Given the description of an element on the screen output the (x, y) to click on. 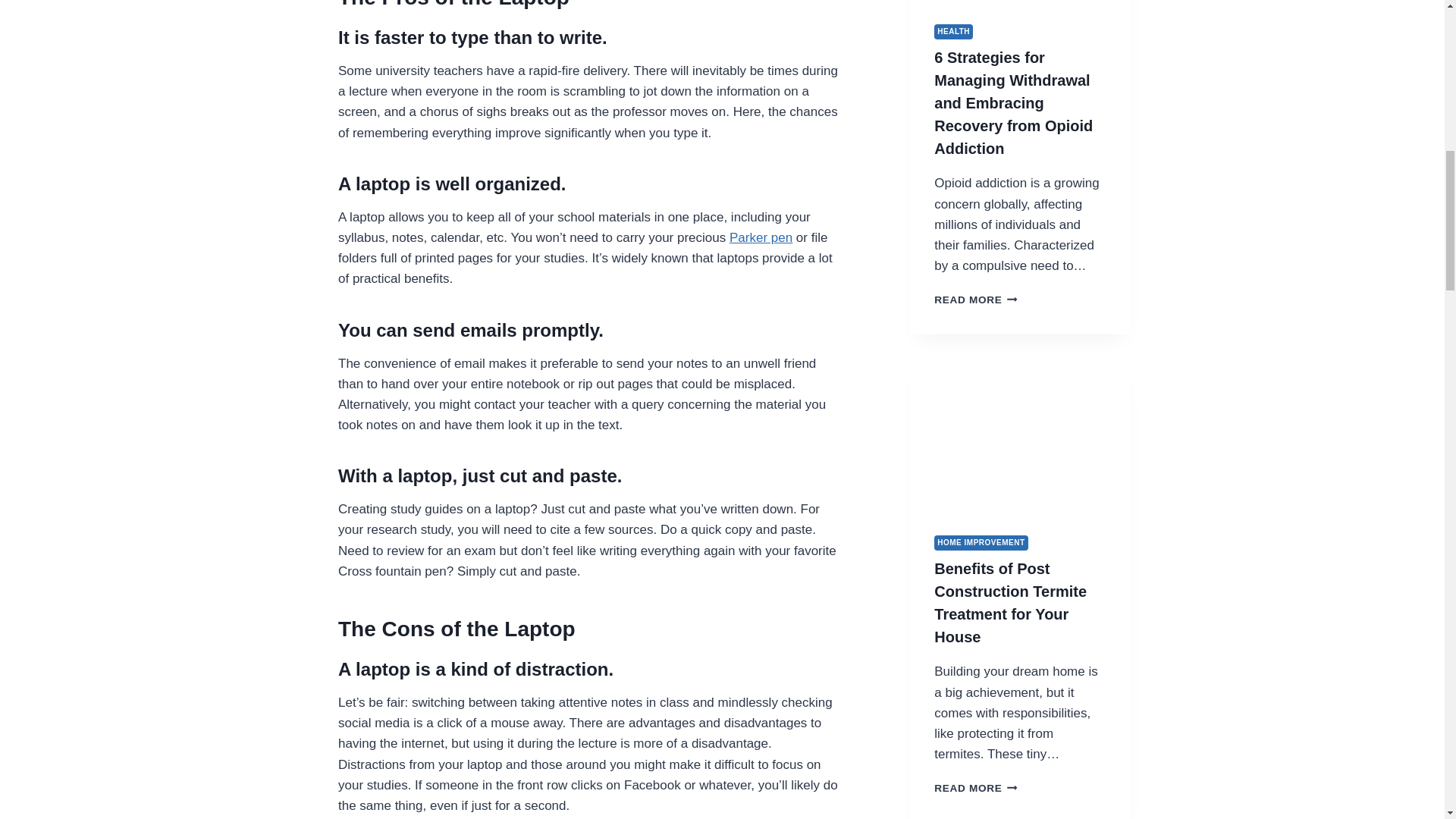
Parker pen (760, 237)
